Given the description of an element on the screen output the (x, y) to click on. 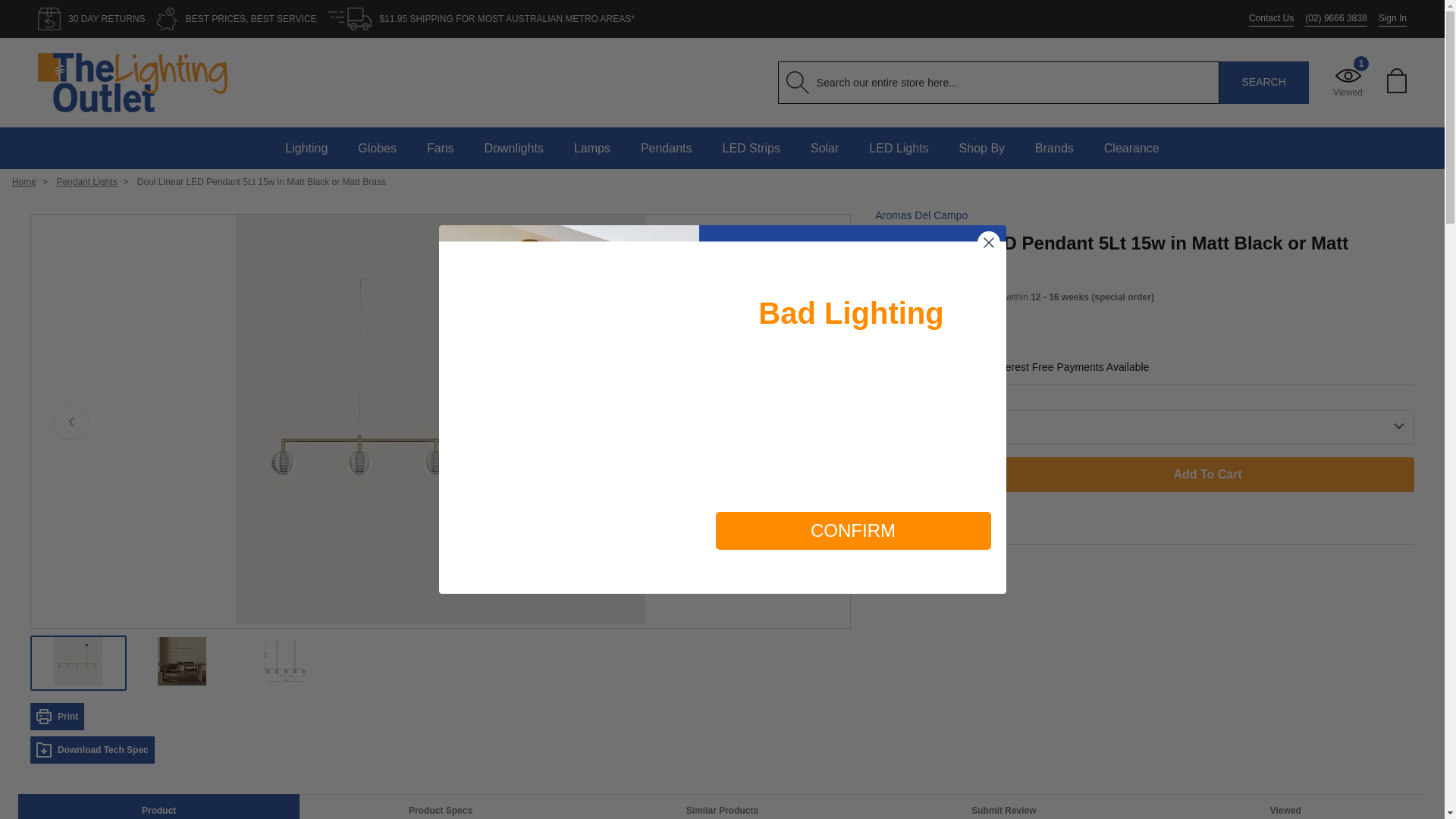
Close dialog 1 (987, 241)
Search (1264, 82)
Search (1264, 82)
Search (1264, 82)
Contact Us (1271, 18)
Lighting (306, 147)
Sign In (1392, 18)
Back to the frontpage (23, 181)
